Given the description of an element on the screen output the (x, y) to click on. 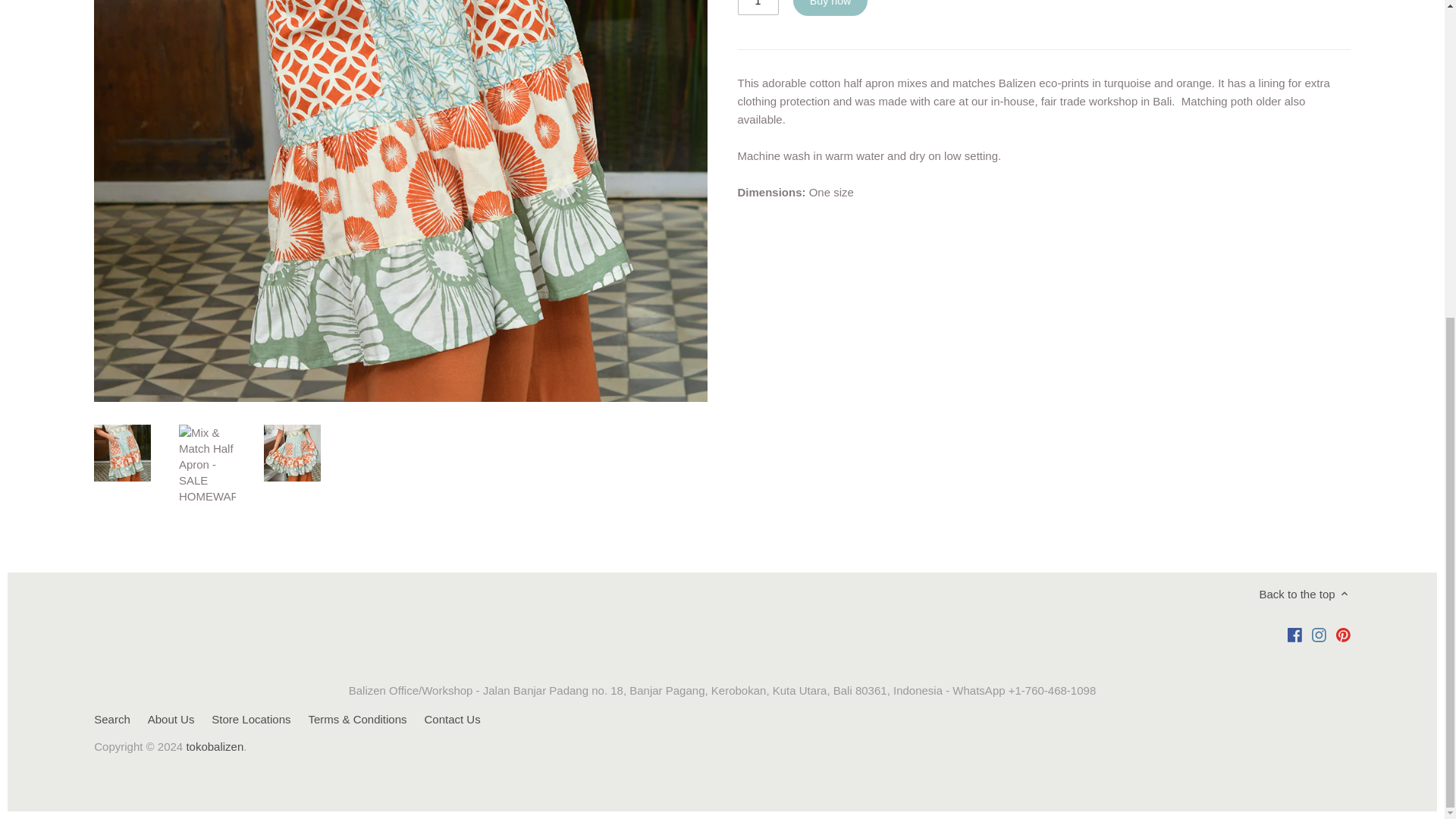
Pinterest (1342, 635)
Instagram (1318, 635)
Pinterest (1343, 633)
Facebook (1294, 635)
Facebook (1294, 633)
Instagram (1318, 633)
1 (756, 7)
